Given the description of an element on the screen output the (x, y) to click on. 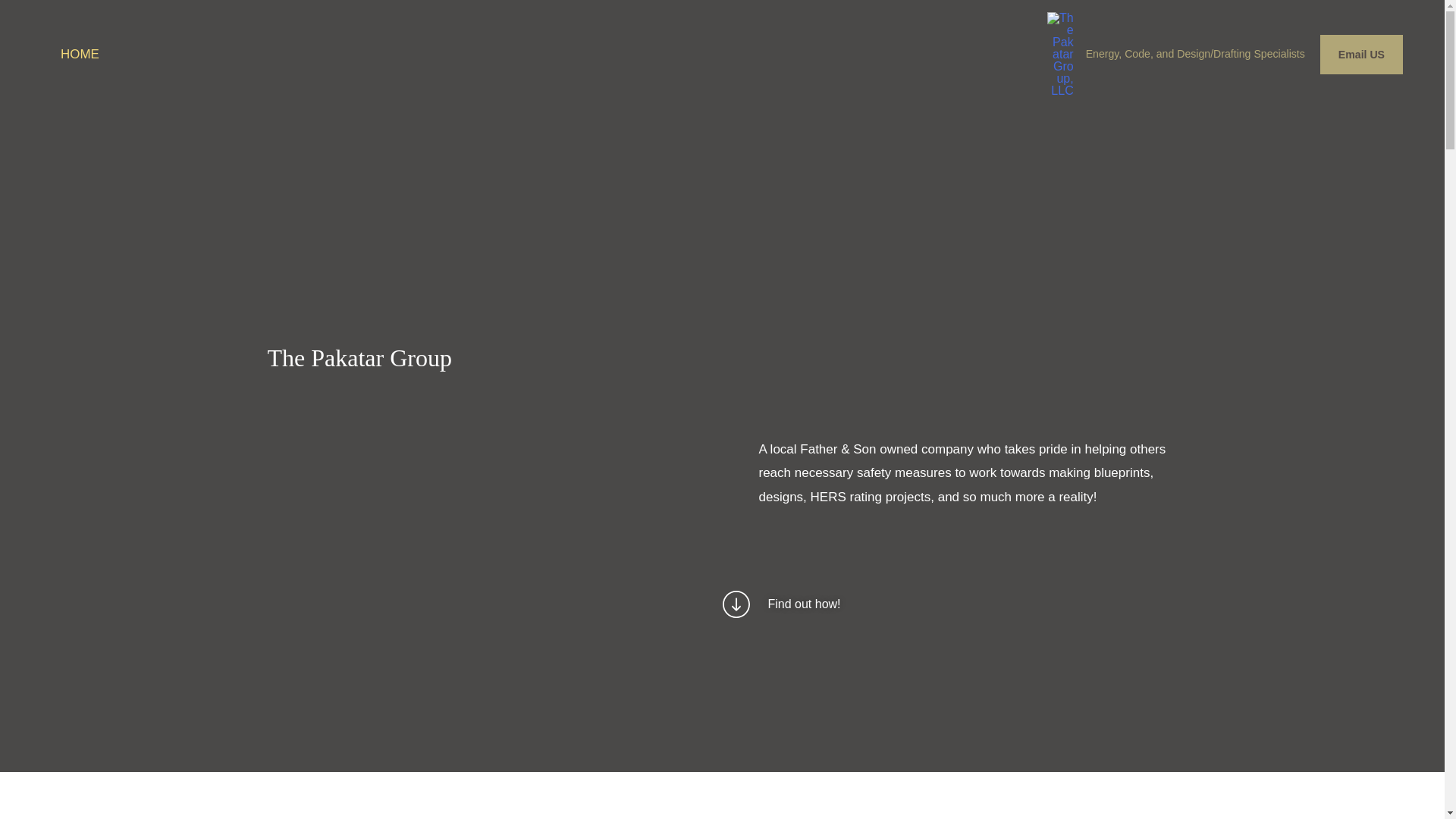
Find out how! (781, 604)
Email US (1361, 54)
HOME (79, 54)
